Given the description of an element on the screen output the (x, y) to click on. 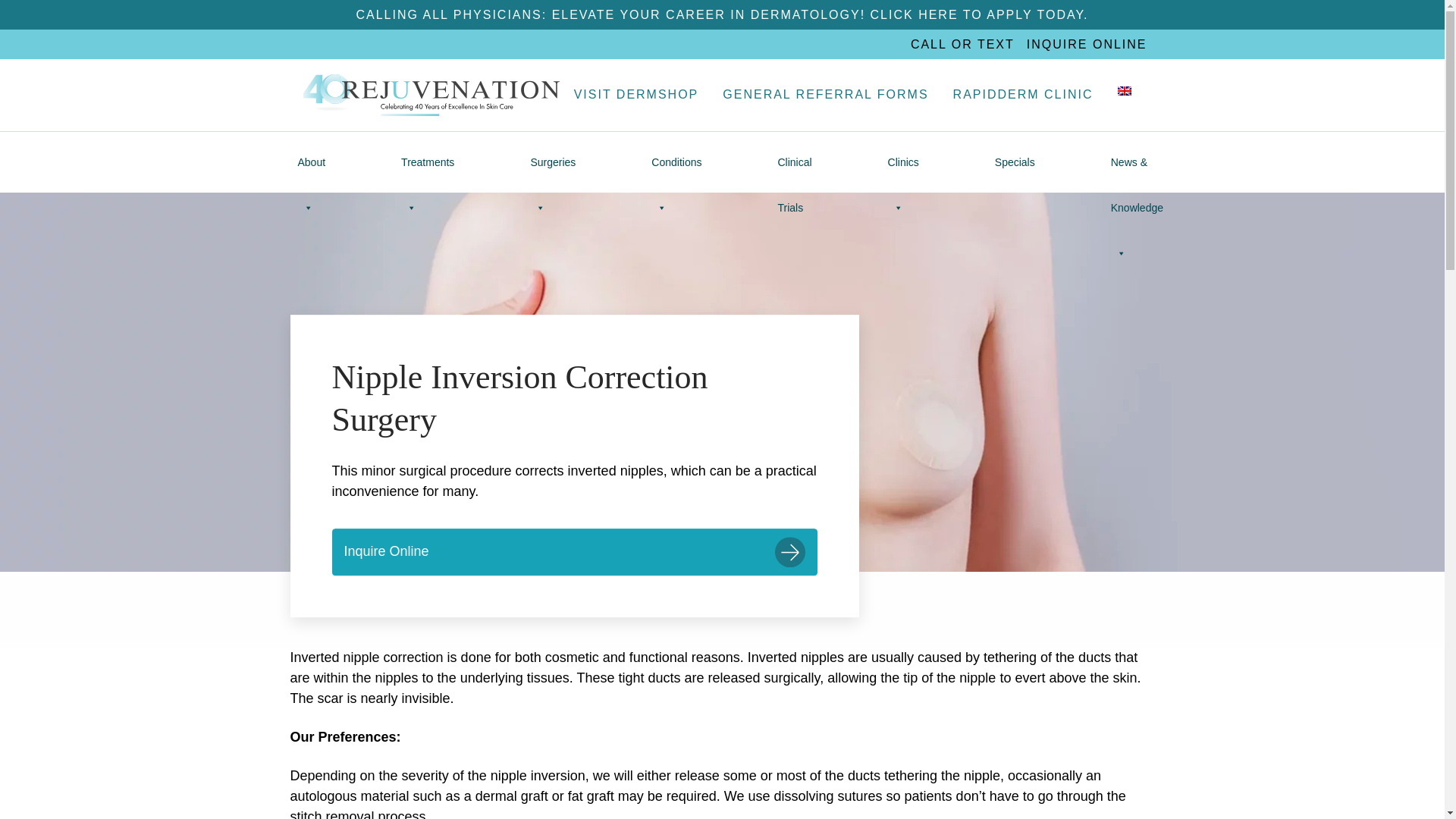
GENERAL REFERRAL FORMS (825, 94)
CALL OR TEXT (962, 43)
INQUIRE ONLINE (1086, 43)
Treatments (427, 162)
VISIT DERMSHOP (636, 94)
About (311, 162)
RAPIDDERM CLINIC (1022, 94)
